Given the description of an element on the screen output the (x, y) to click on. 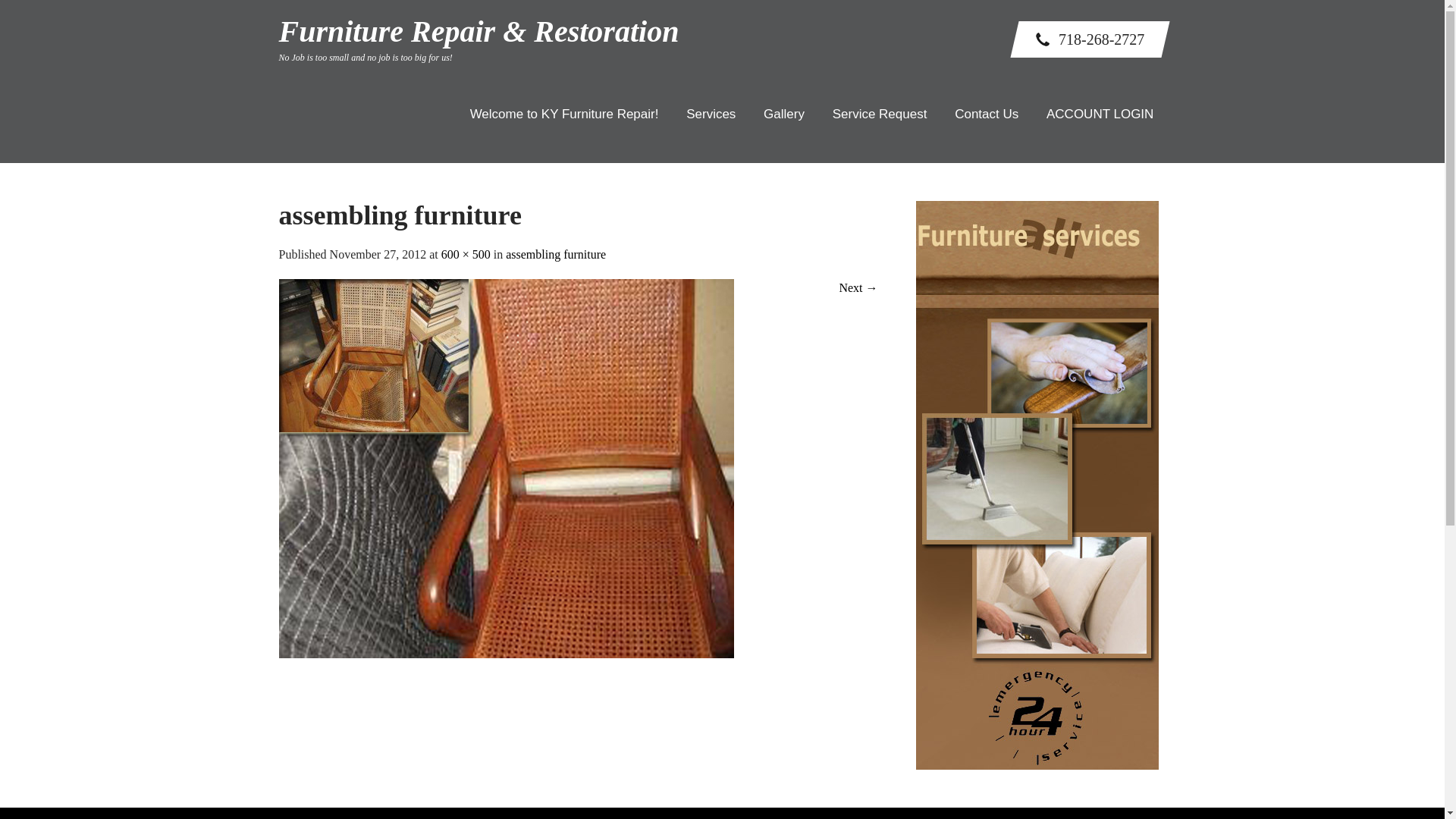
Welcome to KY Furniture Repair! (563, 114)
ACCOUNT LOGIN (1099, 114)
Service Request (880, 114)
assembling furniture (555, 254)
718-268-2727 (1089, 39)
Gallery (783, 114)
Services (711, 114)
Contact Us (986, 114)
